Given the description of an element on the screen output the (x, y) to click on. 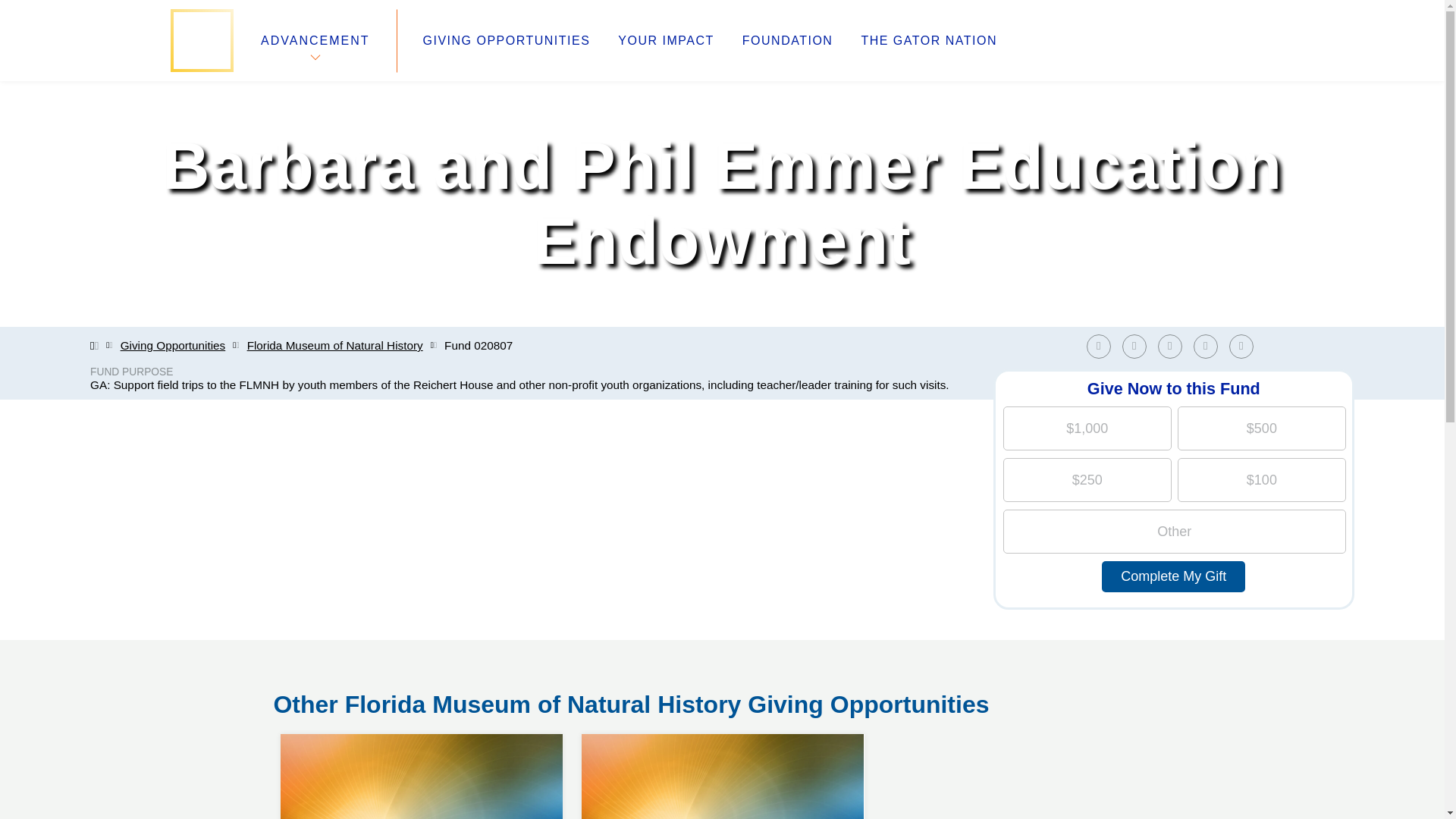
Florida Museum of Natural History (335, 345)
Share on LinkedIn (1173, 345)
GIVING OPPORTUNITIES (507, 40)
THE GATOR NATION (928, 40)
Share on Reddit (1209, 345)
Share on Facebook (1098, 346)
Giving Opportunities (172, 345)
Share by Email (1240, 346)
ADVANCEMENT (314, 40)
Share on LinkedIn (1169, 346)
FOUNDATION (787, 40)
YOUR IMPACT (665, 40)
Share on Twitter (1134, 346)
